Given the description of an element on the screen output the (x, y) to click on. 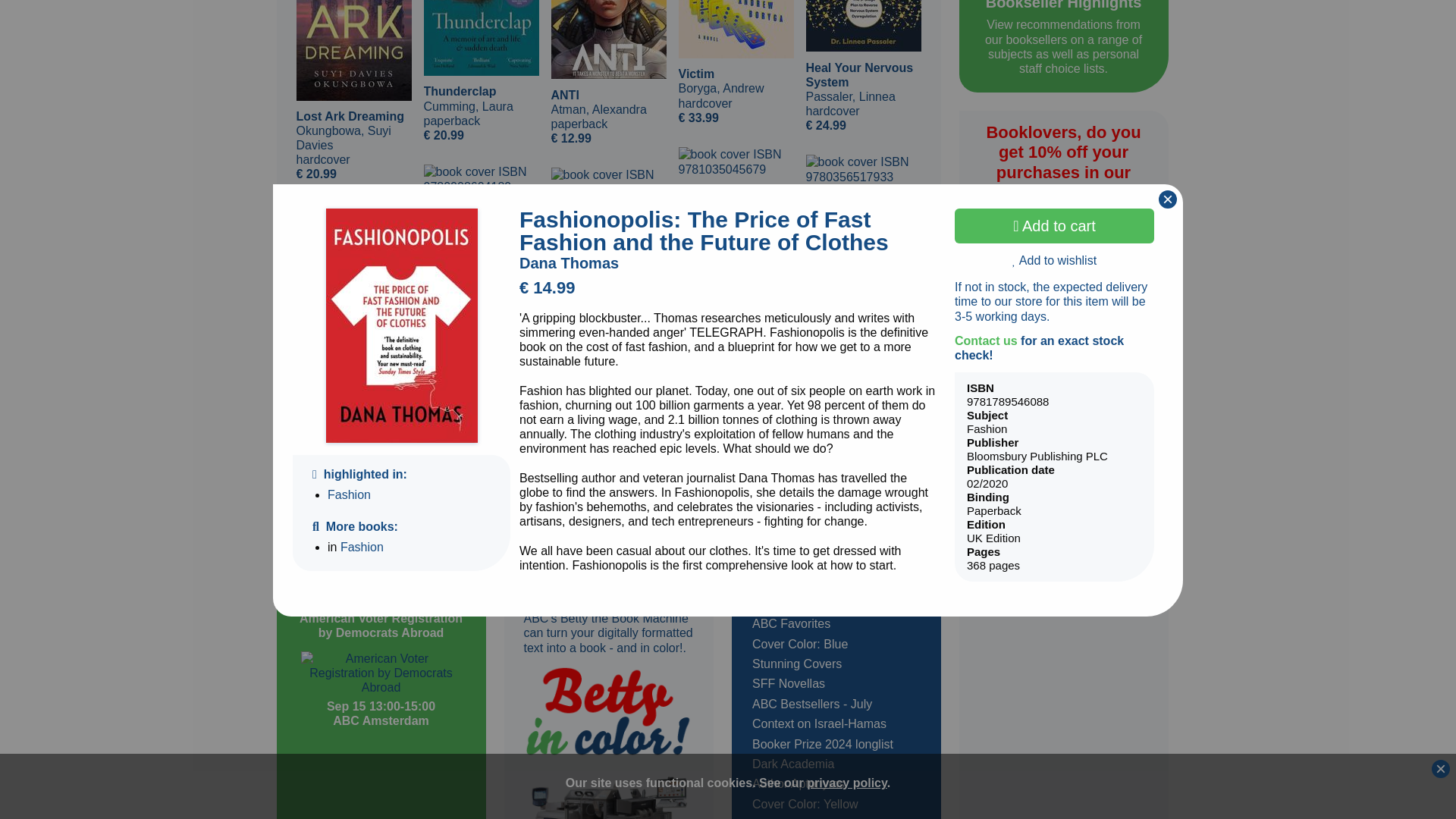
Victim (735, 29)
ANTI (607, 39)
Thunderclap (480, 38)
Heal Your Nervous System (862, 25)
Lost Ark Dreaming (352, 49)
